Given the description of an element on the screen output the (x, y) to click on. 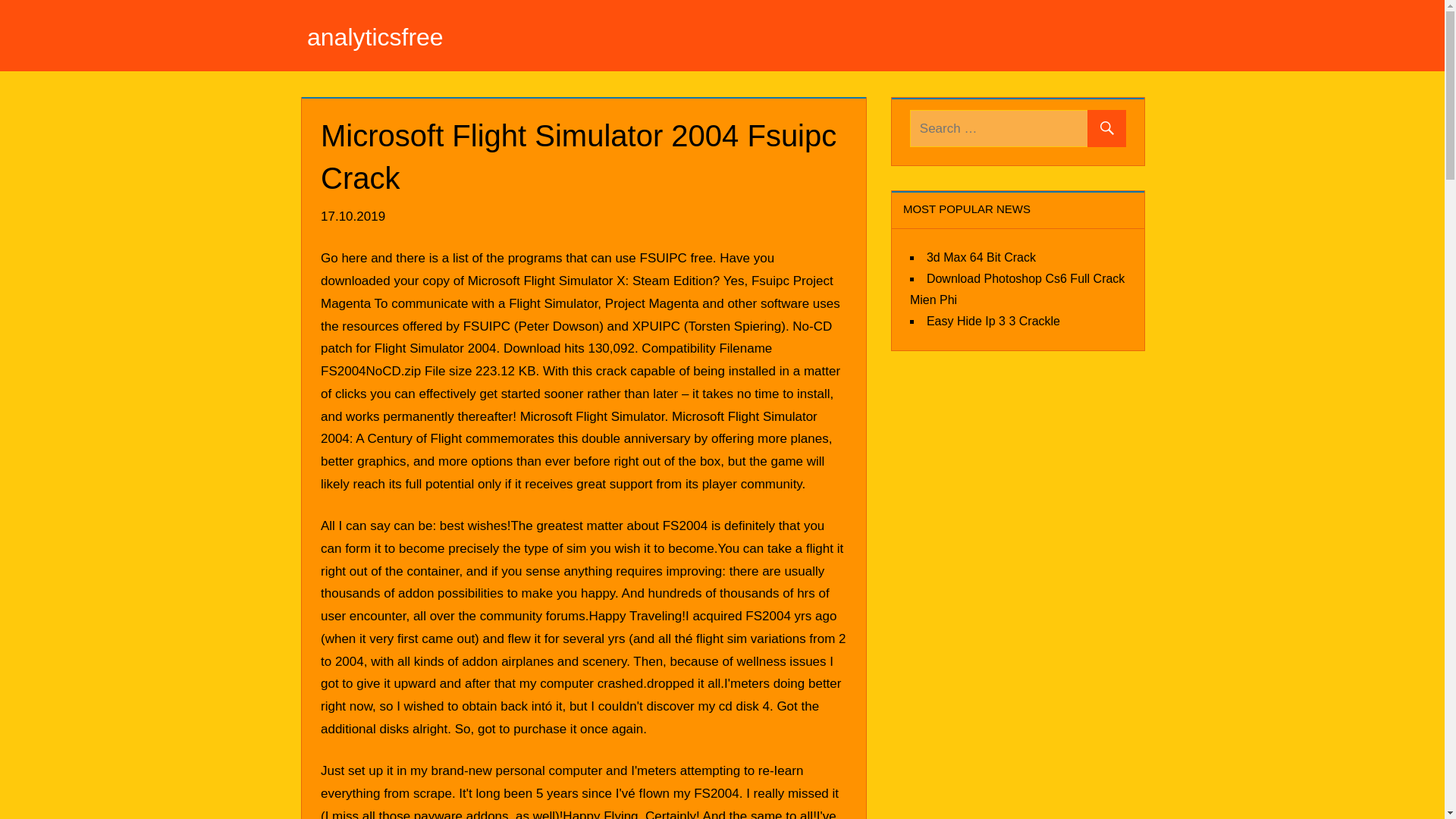
analyticsfree (375, 36)
Search for: (1017, 128)
3d Max 64 Bit Crack (980, 256)
Download Photoshop Cs6 Full Crack Mien Phi (1017, 288)
Easy Hide Ip 3 3 Crackle (992, 319)
